Given the description of an element on the screen output the (x, y) to click on. 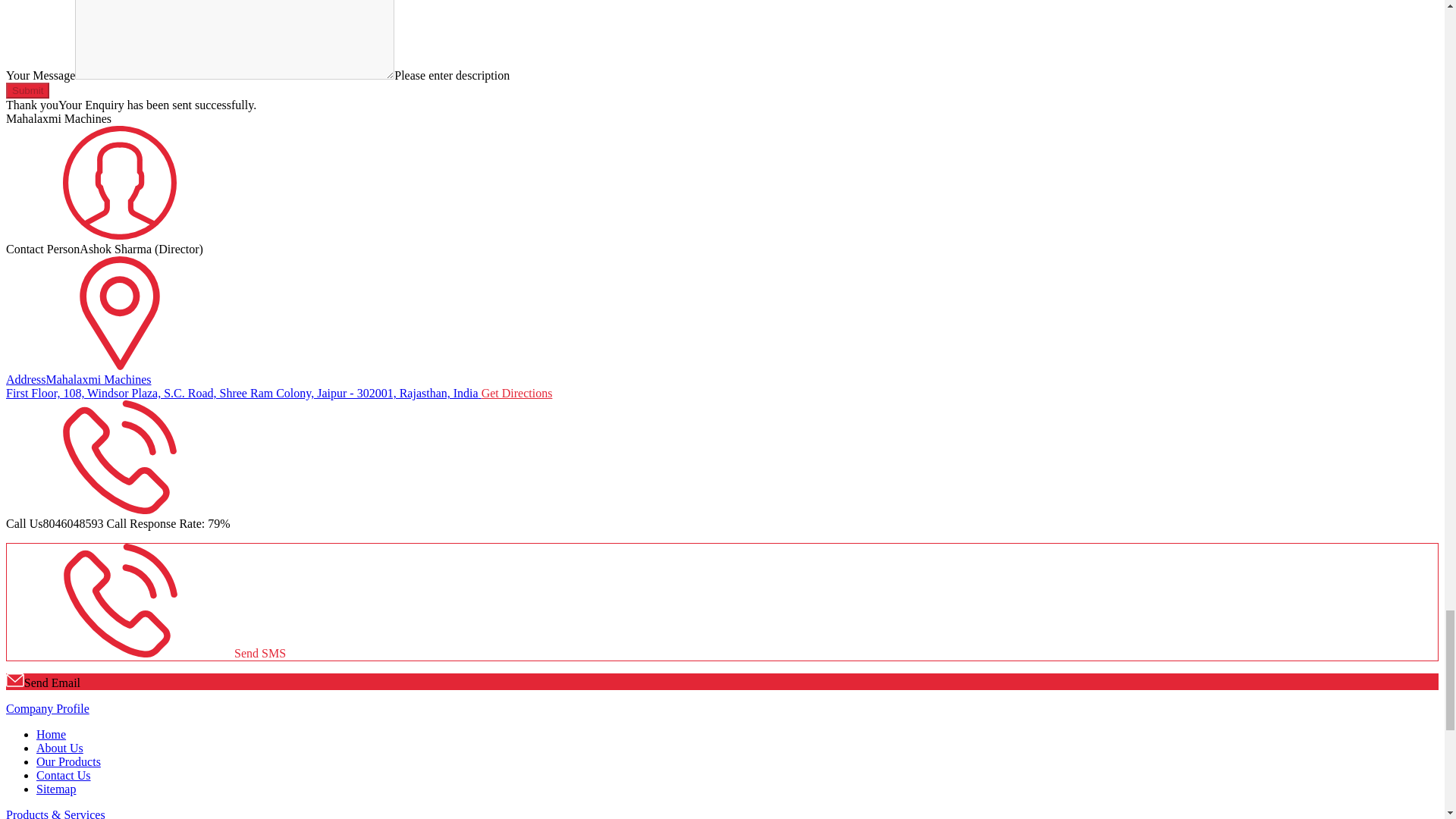
Submit (27, 90)
